Given the description of an element on the screen output the (x, y) to click on. 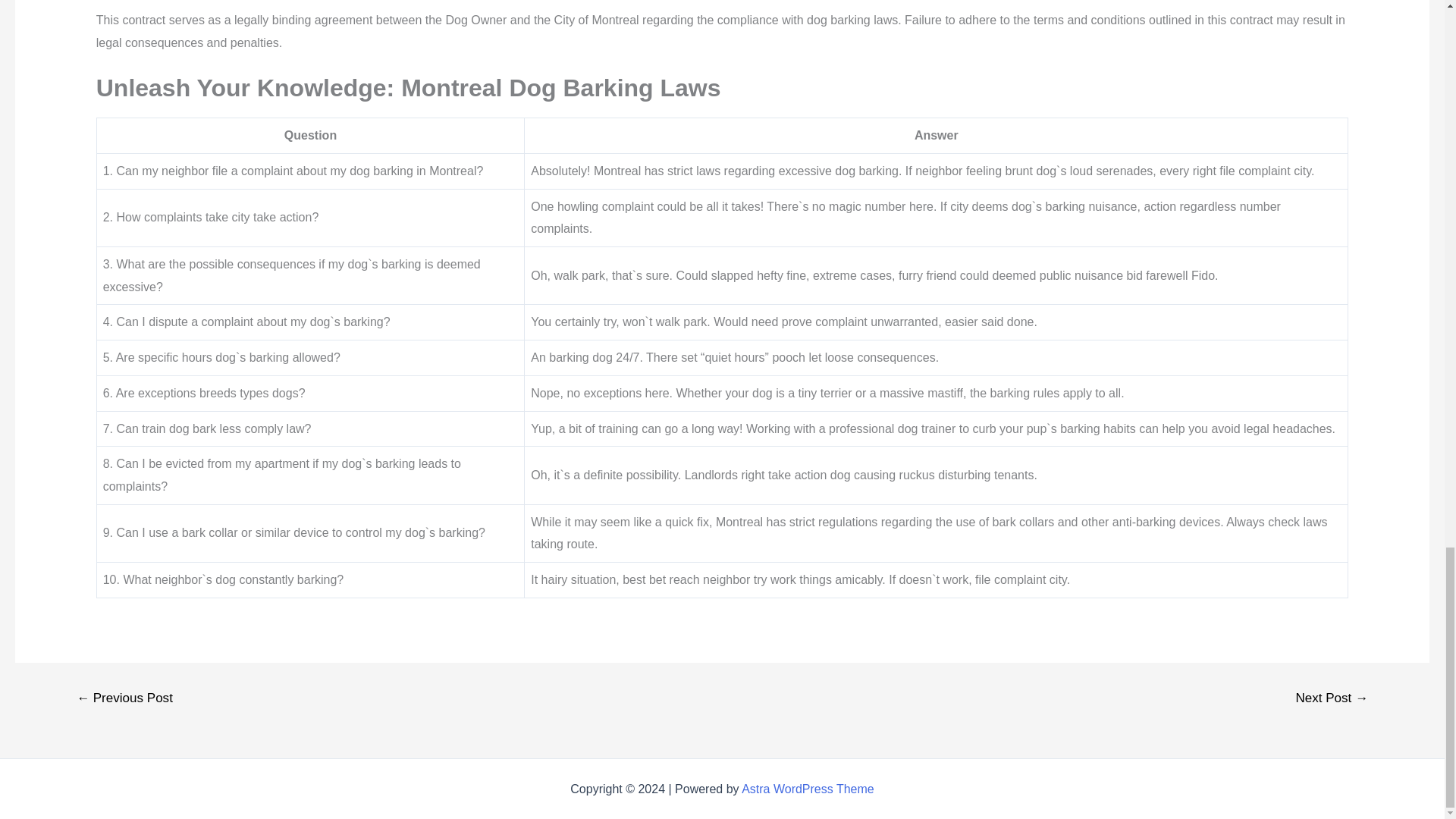
Astra WordPress Theme (808, 788)
